Given the description of an element on the screen output the (x, y) to click on. 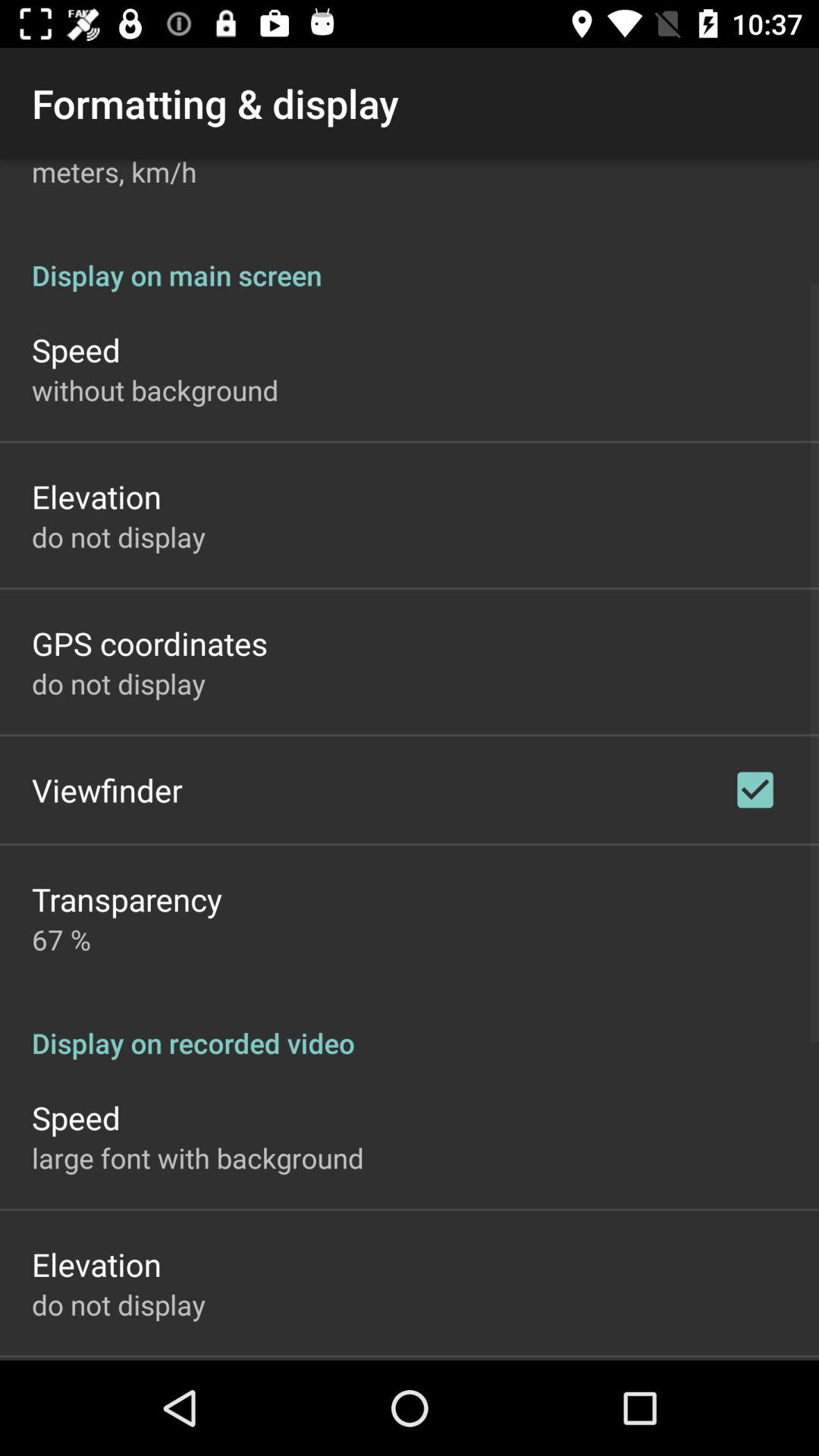
turn on the app above display on recorded item (755, 789)
